Given the description of an element on the screen output the (x, y) to click on. 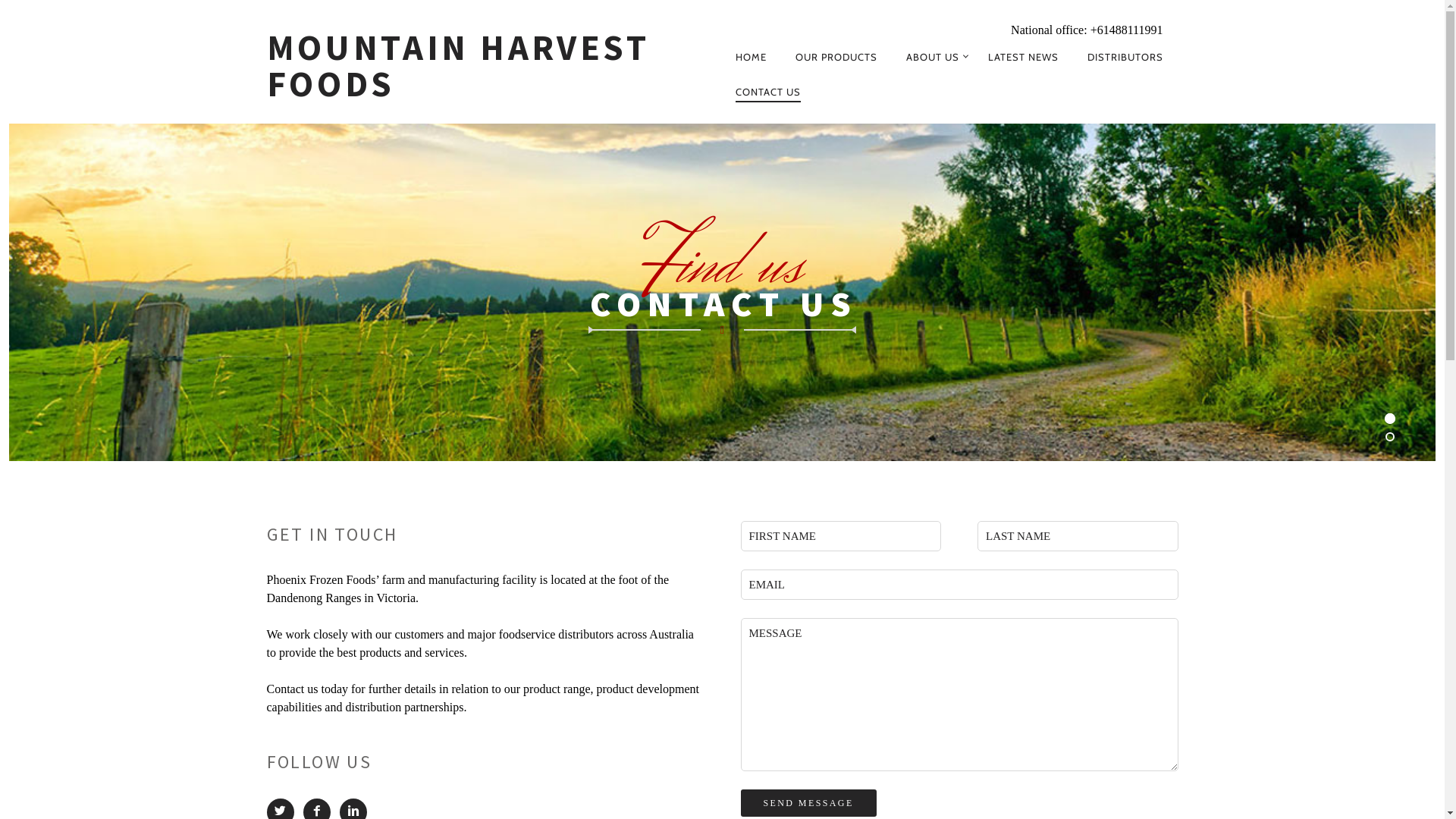
CONTACT US Element type: text (767, 92)
LATEST NEWS Element type: text (1023, 56)
DISTRIBUTORS Element type: text (1125, 56)
ABOUT US Element type: text (932, 56)
HOME Element type: text (750, 56)
+61488111991 Element type: text (1126, 29)
Send Message Element type: text (807, 802)
OUR PRODUCTS Element type: text (836, 56)
MOUNTAIN HARVEST FOODS Element type: text (494, 66)
